Given the description of an element on the screen output the (x, y) to click on. 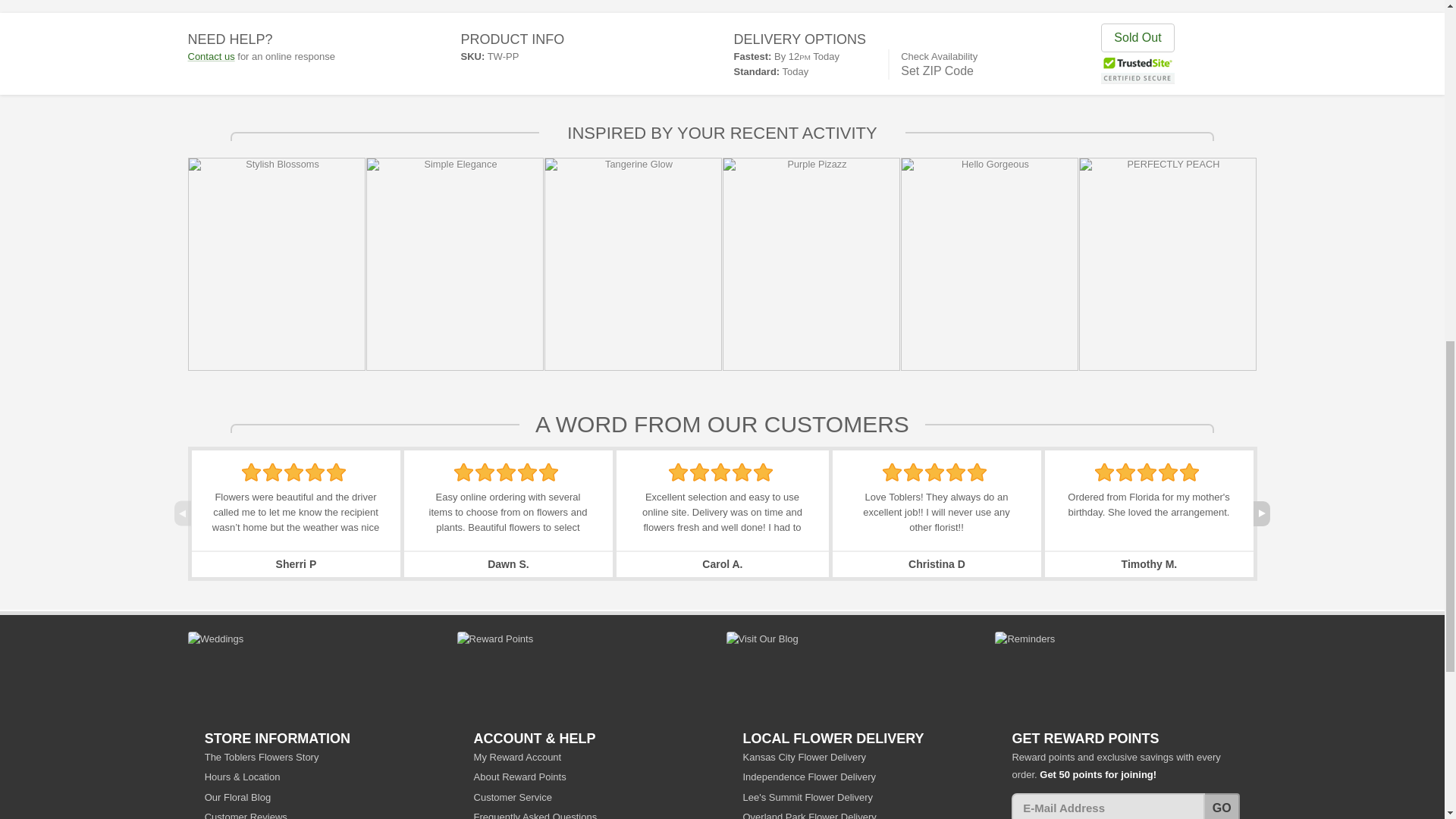
Full Star (463, 472)
Full Star (485, 472)
Full Star (292, 472)
Full Star (314, 472)
Full Star (527, 472)
Full Star (336, 472)
Full Star (677, 472)
Full Star (272, 472)
Full Star (505, 472)
Full Star (250, 472)
